Given the description of an element on the screen output the (x, y) to click on. 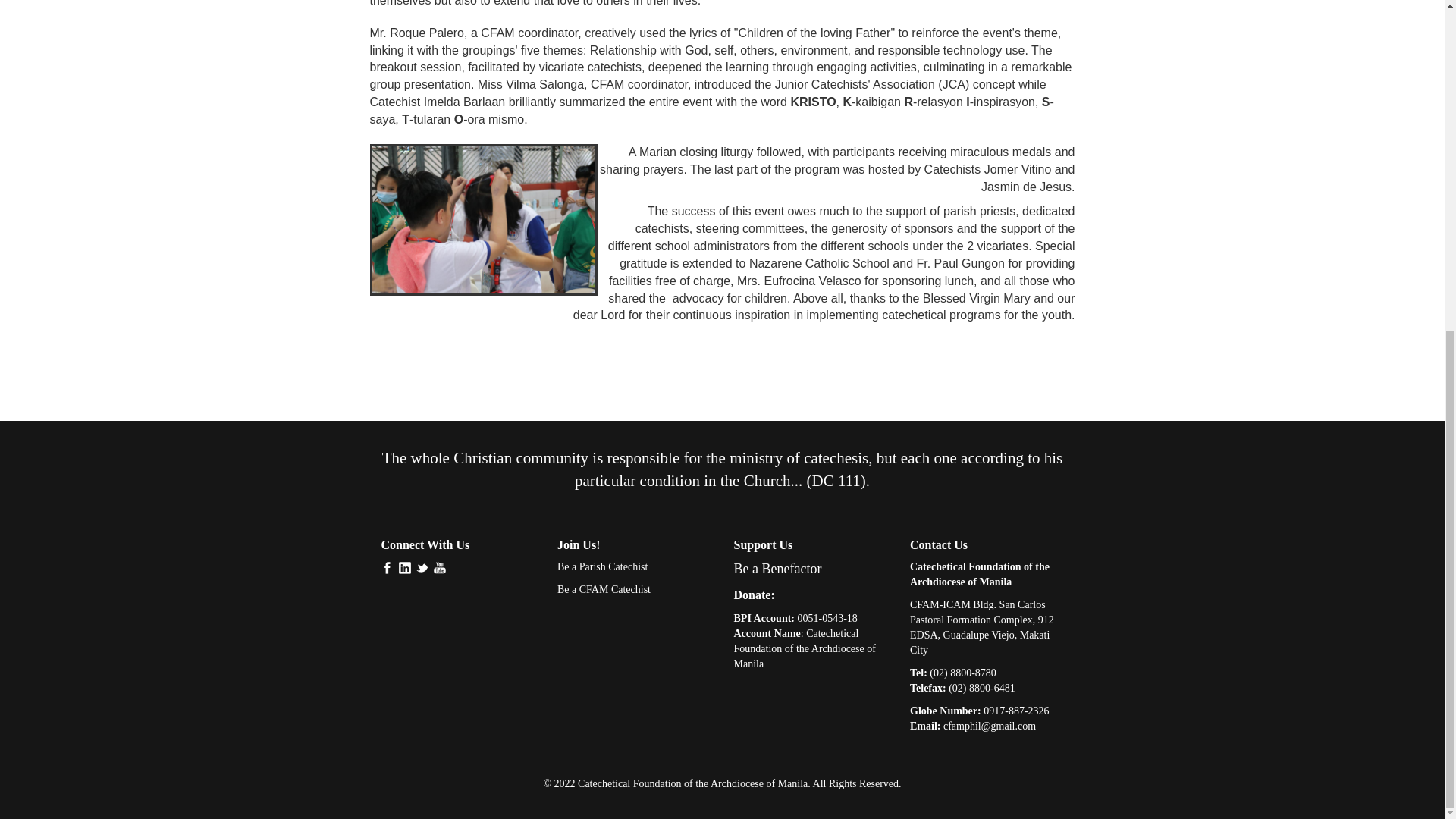
Be a CFAM Catechist (603, 589)
Be a Benefactor (777, 568)
Be a Parish Catechist (602, 566)
